Given the description of an element on the screen output the (x, y) to click on. 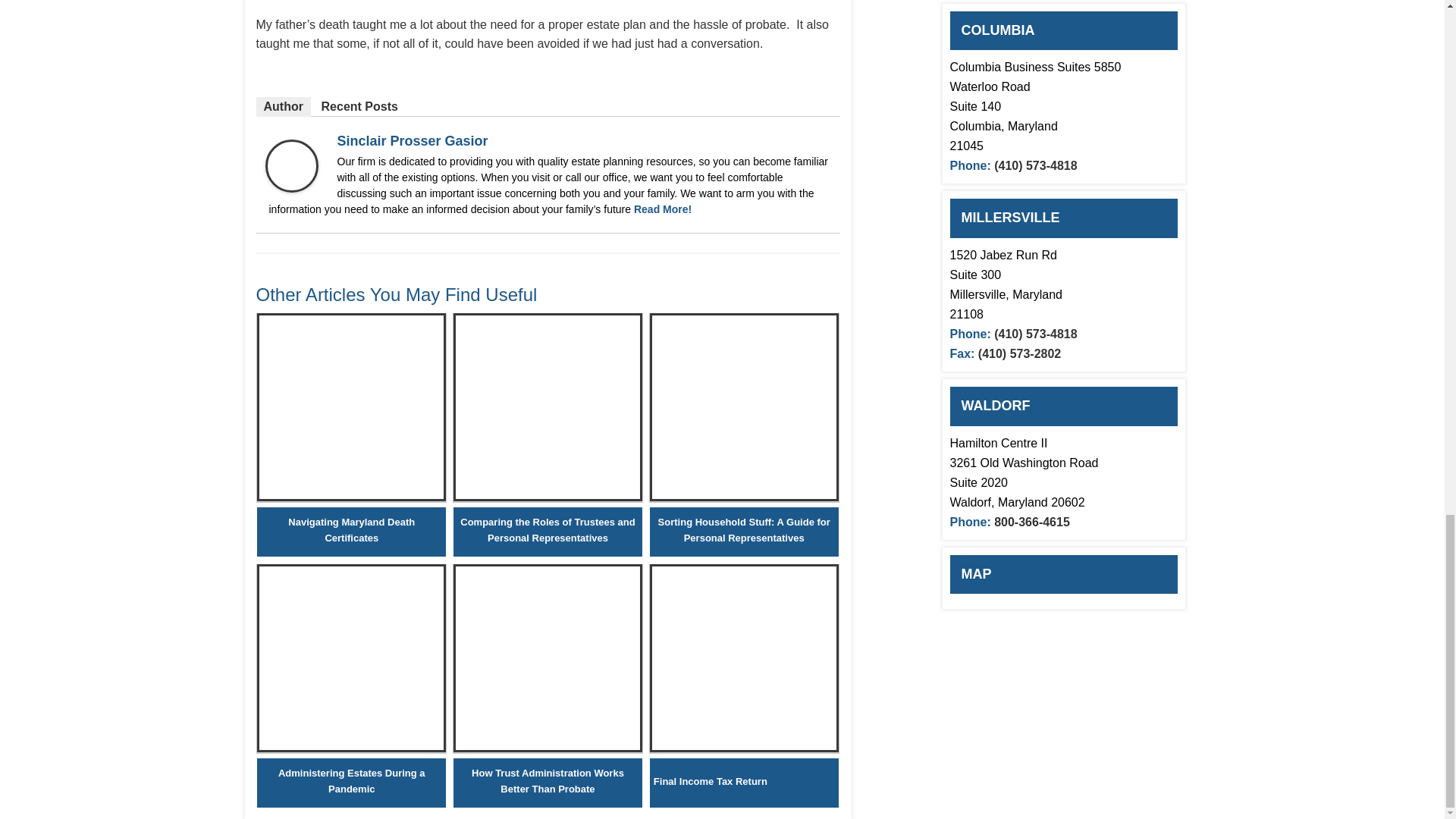
Comparing the Roles of Trustees and Personal Representatives (548, 530)
Administering Estates During a Pandemic (351, 780)
Navigating Maryland Death Certificates (351, 530)
Administering Estates During a Pandemic (351, 748)
How Trust Administration Works Better Than Probate (547, 748)
Comparing the Roles of Trustees and Personal Representatives (547, 496)
Navigating Maryland Death Certificates (351, 496)
Sinclair Prosser Gasior (300, 187)
